Given the description of an element on the screen output the (x, y) to click on. 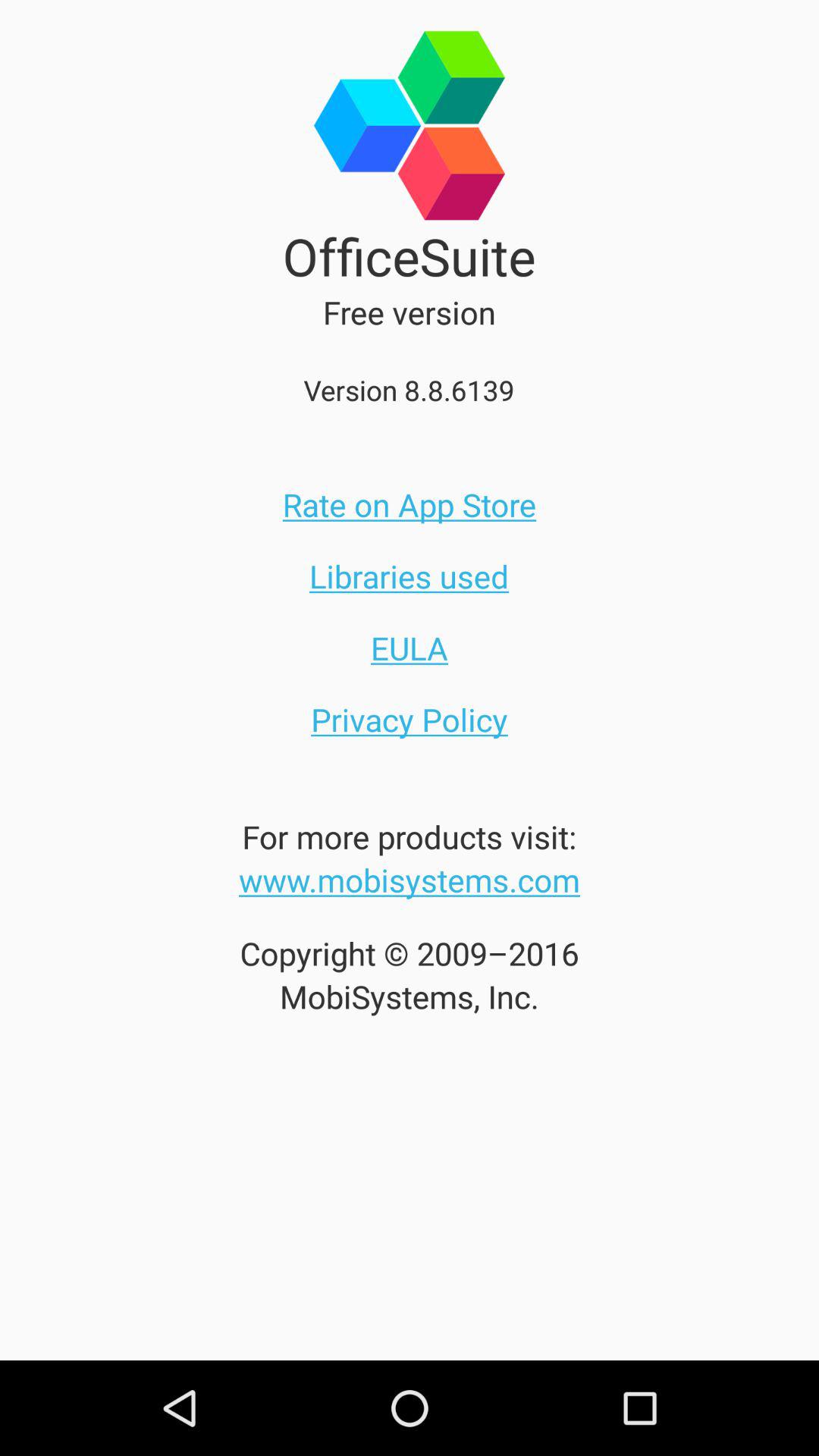
turn on the icon below the version 8 8 (409, 504)
